Given the description of an element on the screen output the (x, y) to click on. 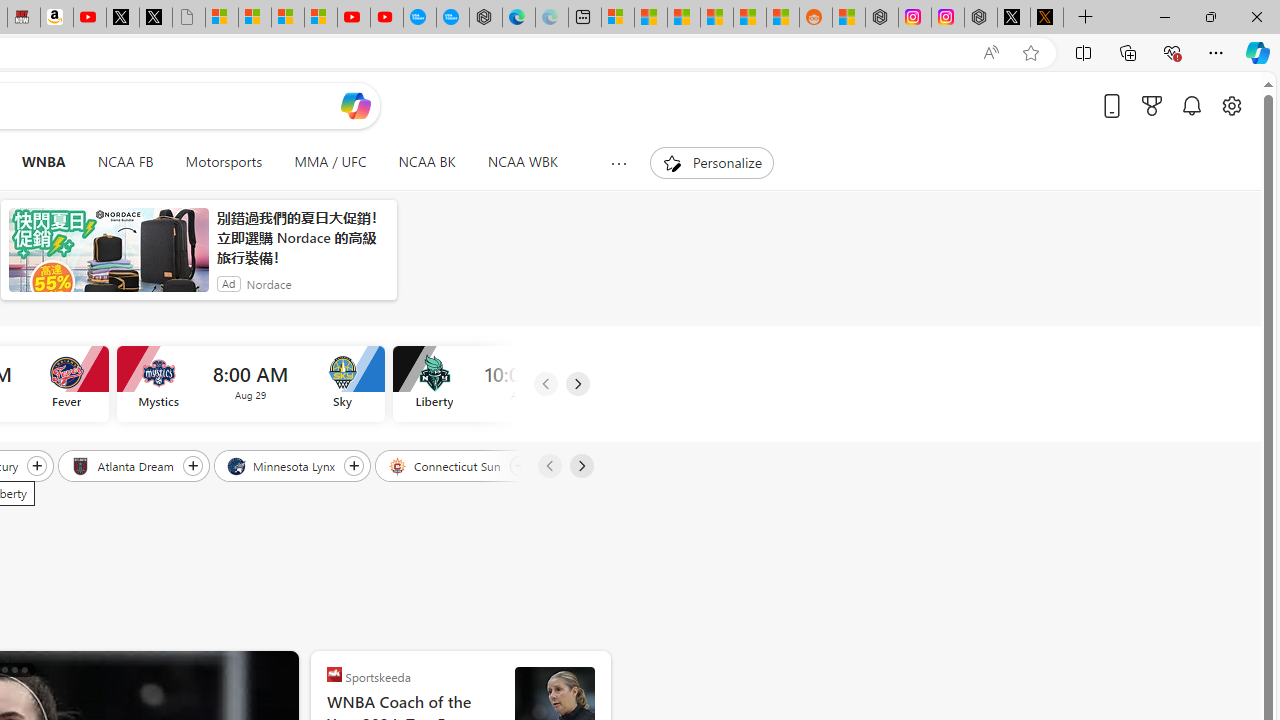
NCAA WBK (522, 162)
anim-content (107, 258)
Gloom - YouTube (353, 17)
MMA / UFC (330, 162)
Connecticut Sun (445, 465)
Sportskeeda (333, 673)
NCAA FB (125, 162)
Next (580, 465)
Personalize (711, 162)
